Given the description of an element on the screen output the (x, y) to click on. 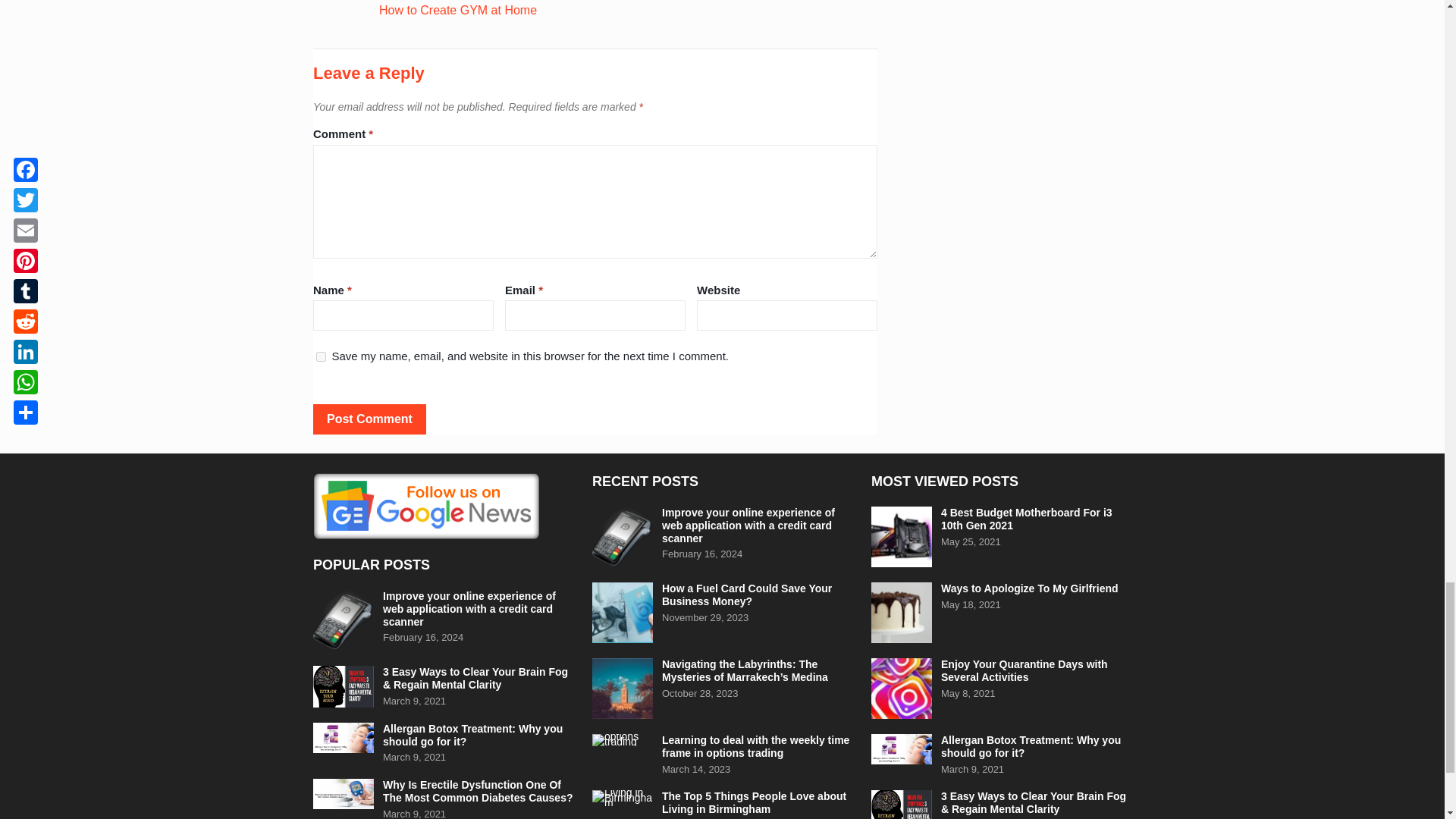
yes (320, 356)
Post Comment (369, 419)
